Given the description of an element on the screen output the (x, y) to click on. 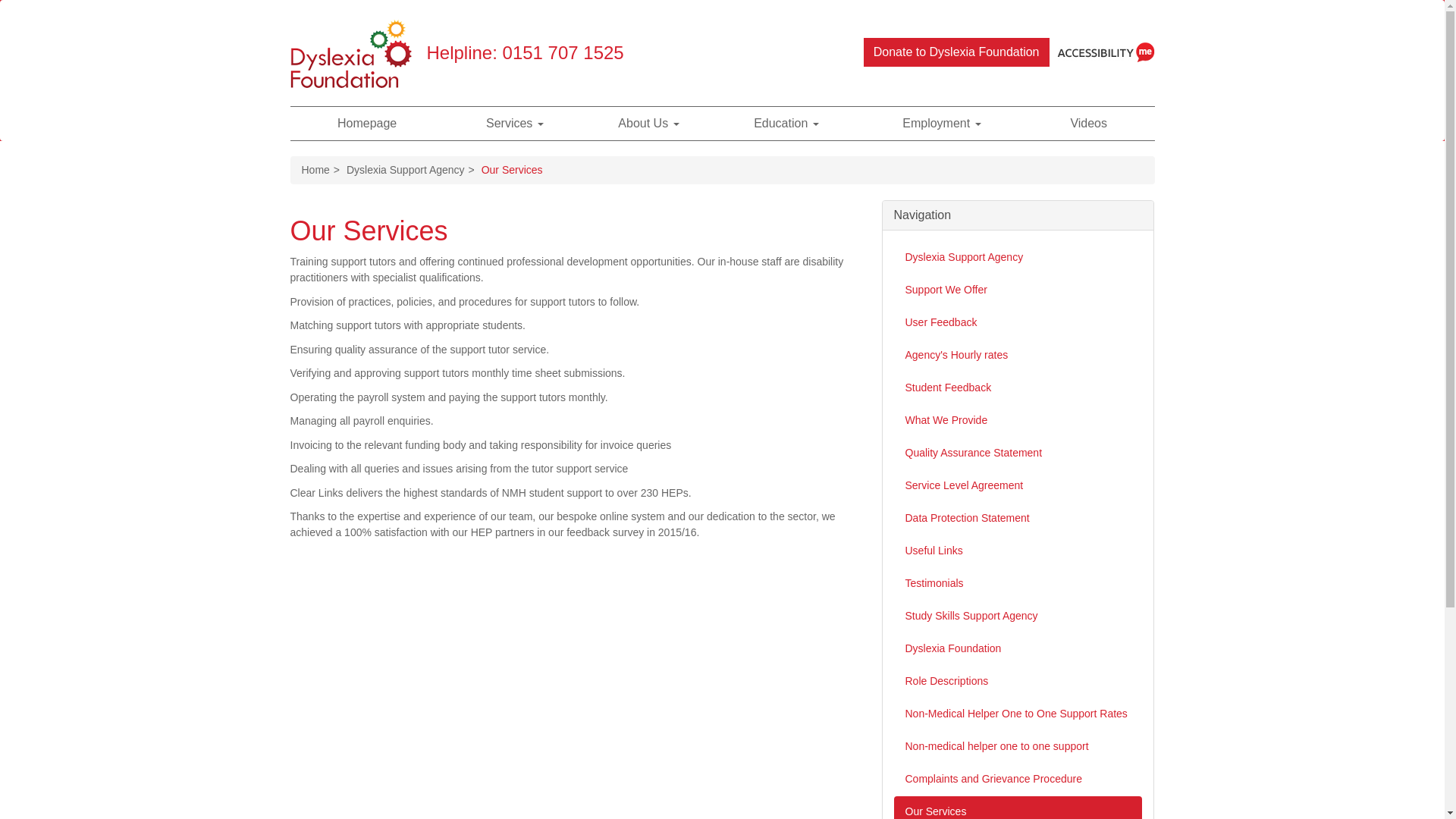
Testimonials (1017, 583)
Dyslexia Foundation (1017, 648)
Employment (941, 123)
Helpline: 0151 707 1525 (524, 52)
Quality Assurance Statement (1017, 452)
Role Descriptions (1017, 680)
Testimonials (1017, 583)
Dyslexia Support Agency (1017, 256)
Homepage (366, 123)
Donate to Dyslexia Foundation (956, 51)
Support We Offer (1017, 289)
Dyslexia Support Agency (405, 169)
Donate to Dyslexia Foundation (956, 51)
Dyslexia Foundation (1017, 648)
Role Descriptions (1017, 680)
